Given the description of an element on the screen output the (x, y) to click on. 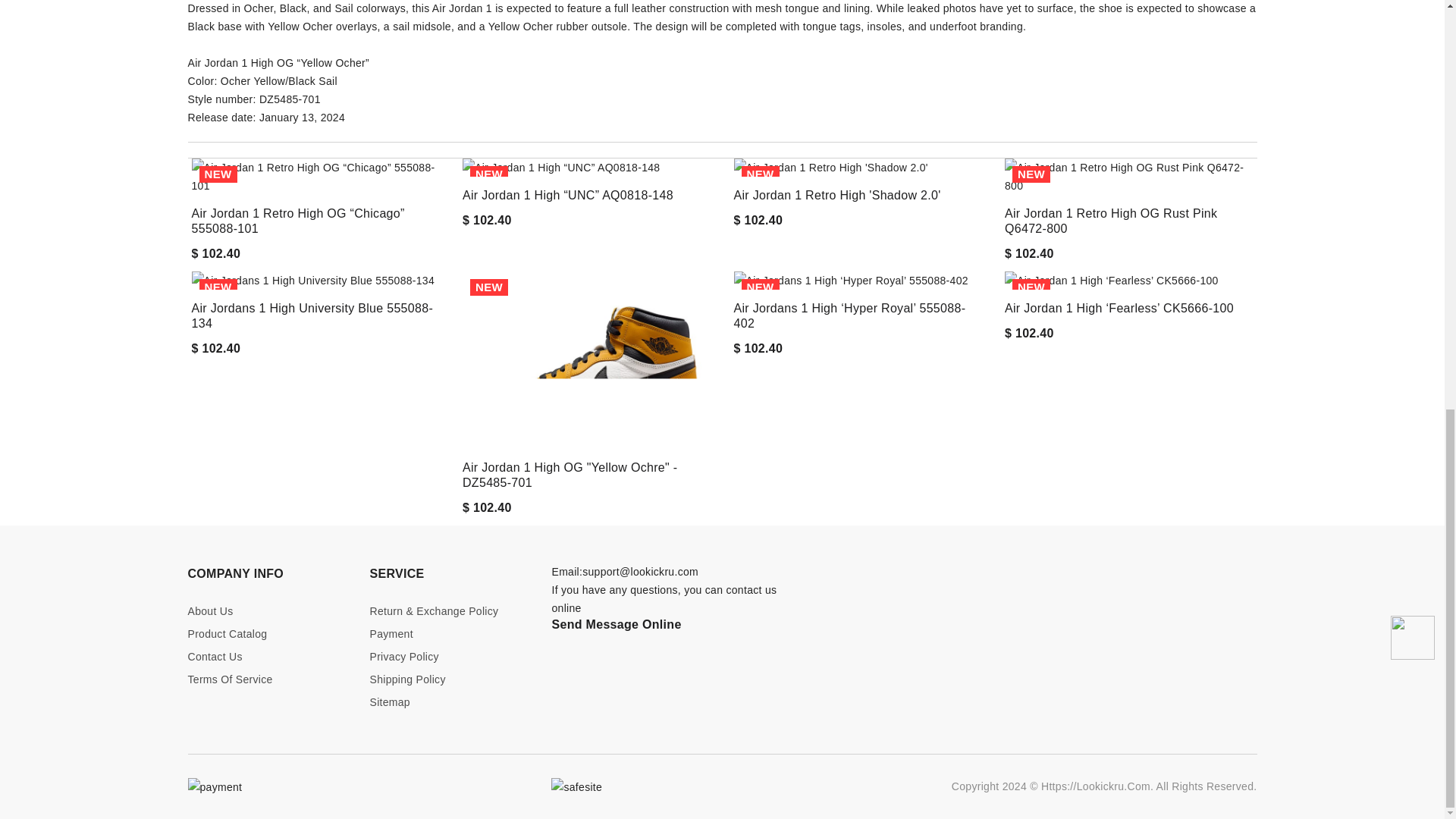
Contact us (267, 656)
About Us (267, 611)
Product catalog (267, 633)
